Given the description of an element on the screen output the (x, y) to click on. 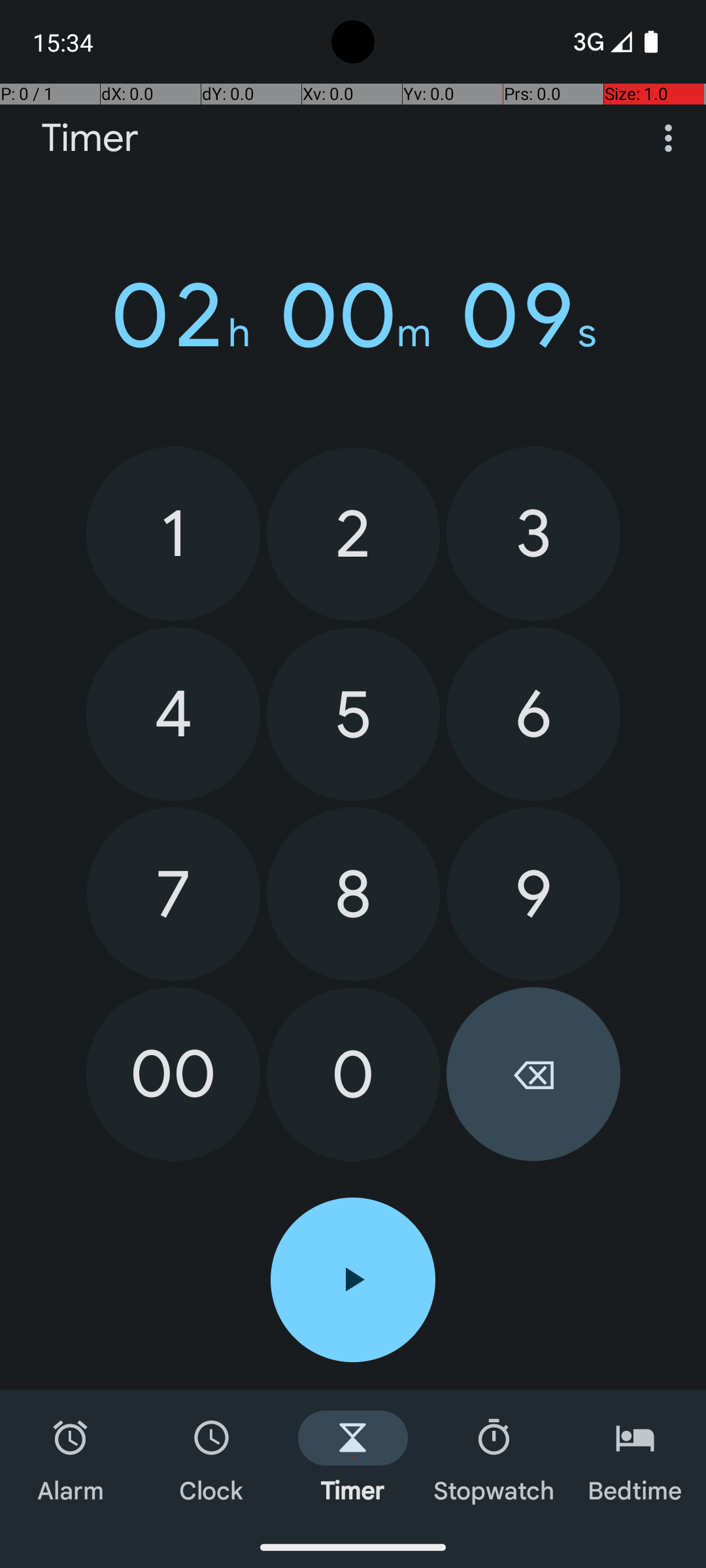
02h 00m 09s Element type: android.widget.TextView (353, 315)
